Given the description of an element on the screen output the (x, y) to click on. 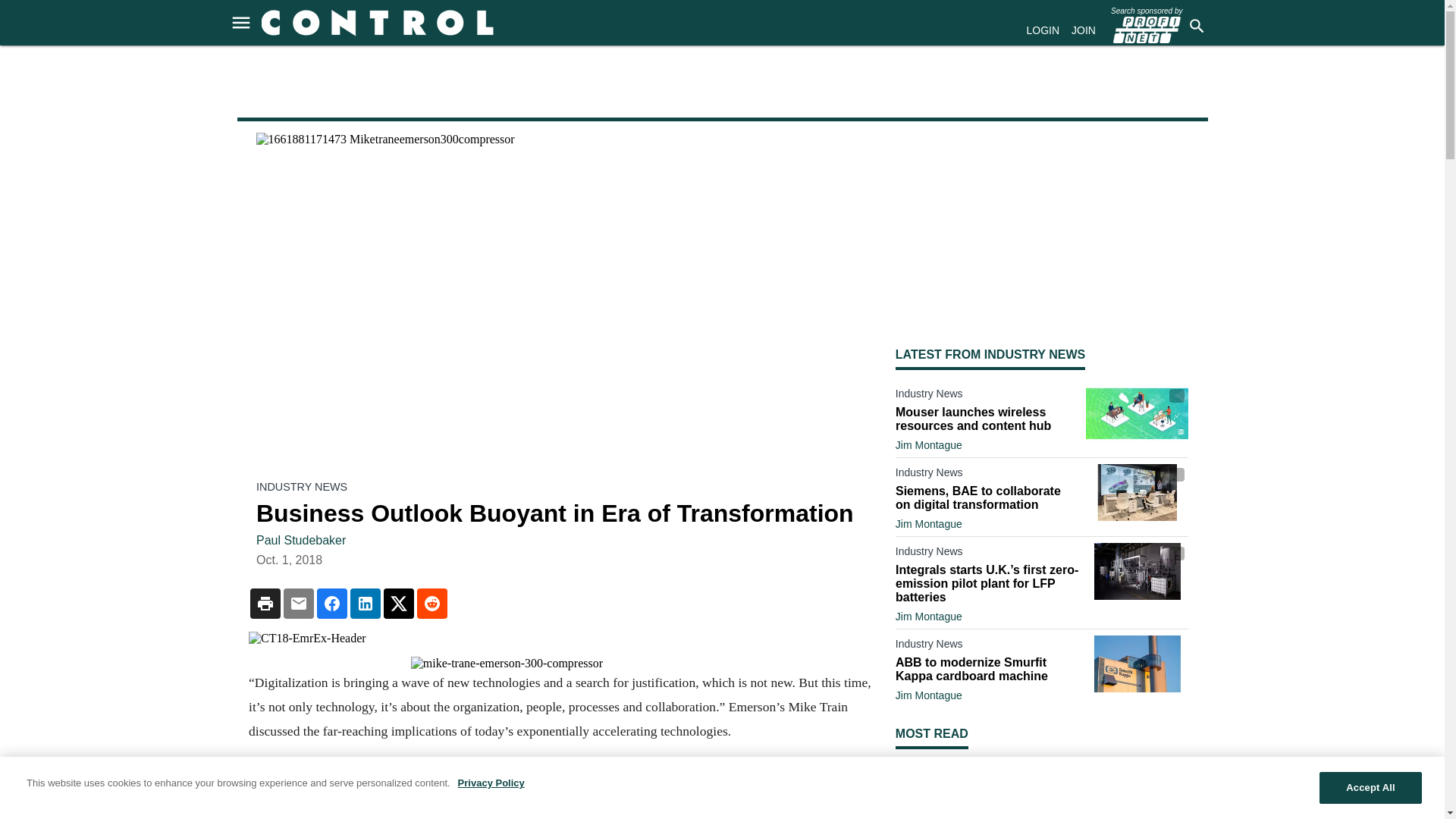
mouserresourceswirelessnetworkingtwitter1024x512en (1137, 413)
CT18-EmrEx-Header (560, 638)
Factory of the future technology. (1137, 492)
mike-trane-emerson-300-compressor (560, 663)
LOGIN (1042, 30)
JOIN (1083, 30)
